Given the description of an element on the screen output the (x, y) to click on. 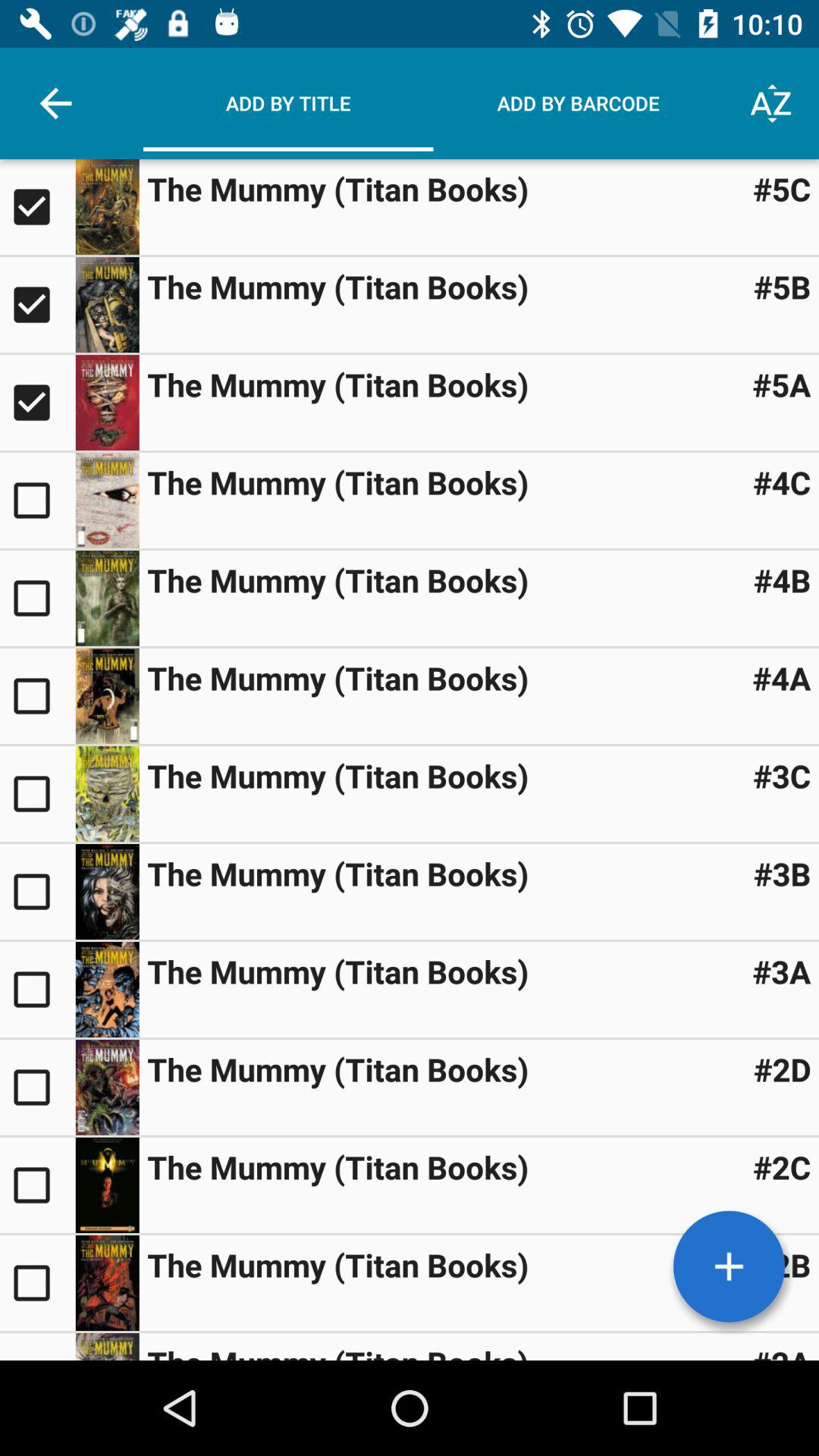
open book (107, 695)
